Given the description of an element on the screen output the (x, y) to click on. 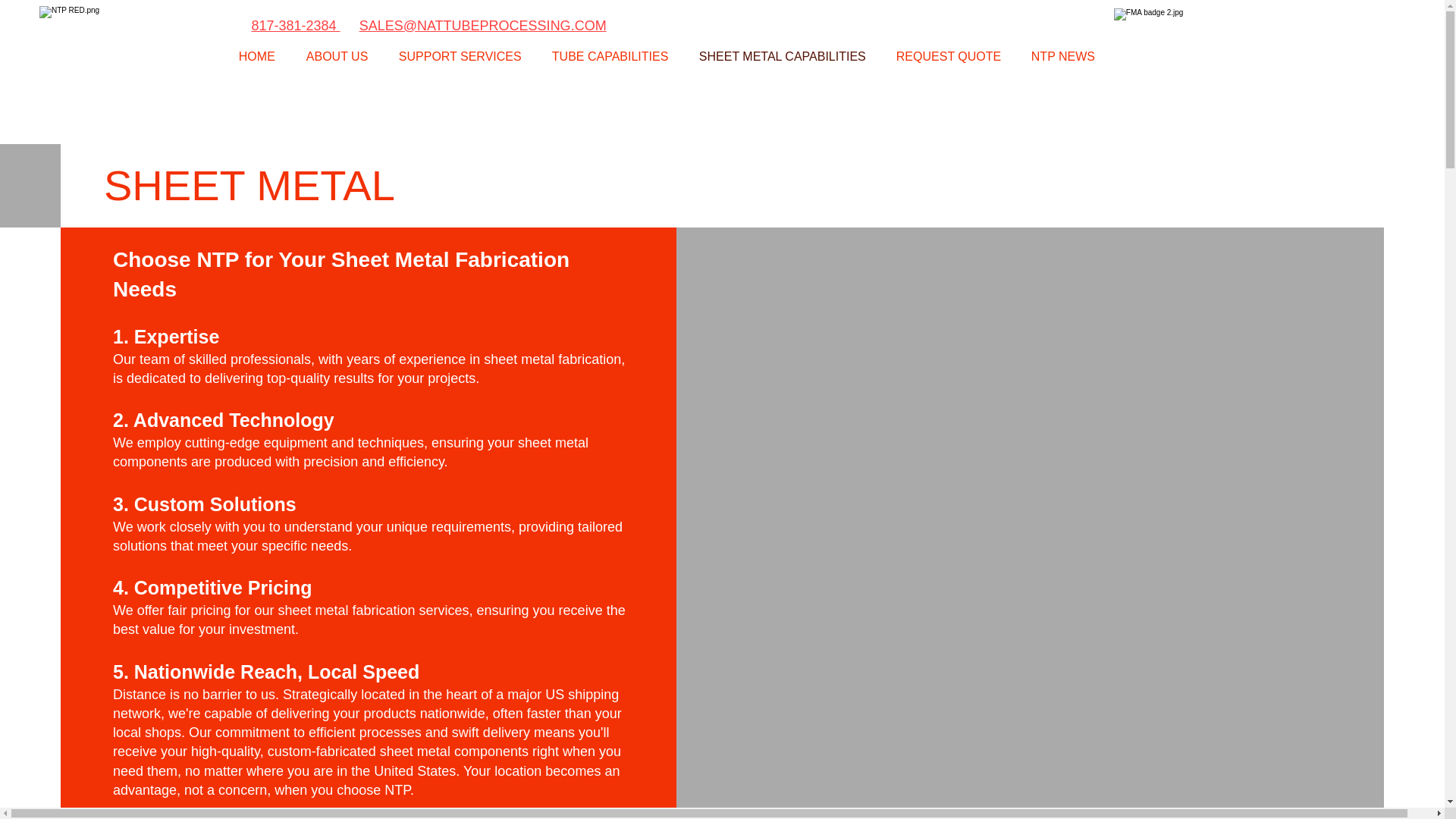
HOME (261, 56)
NTP NEWS (1066, 56)
SHEET METAL CAPABILITIES (786, 56)
REQUEST QUOTE (952, 56)
SUPPORT SERVICES (463, 56)
817-381-2384  (295, 25)
TUBE CAPABILITIES (613, 56)
ABOUT US (341, 56)
